Given the description of an element on the screen output the (x, y) to click on. 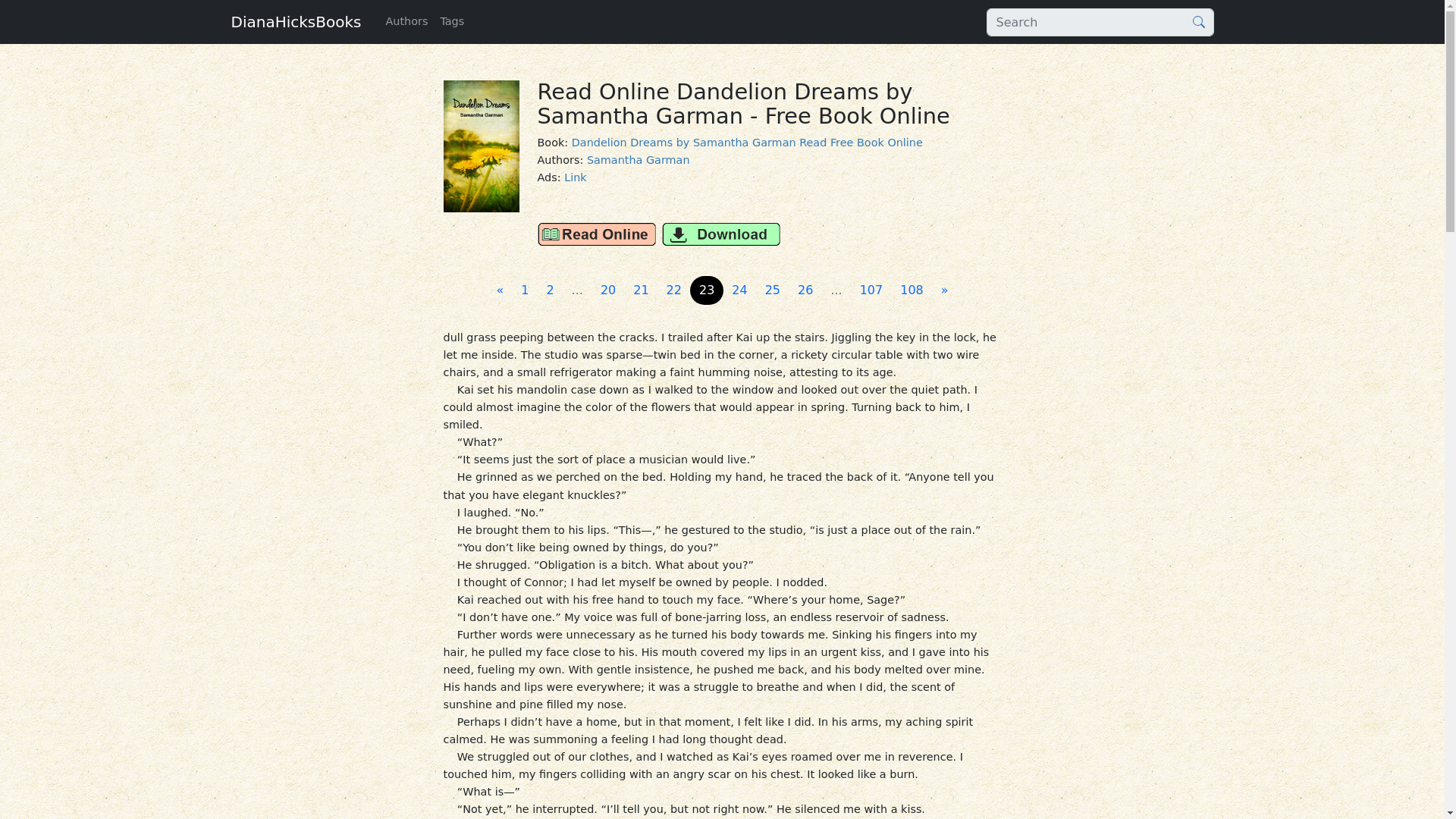
24 (738, 290)
DianaHicksBooks (295, 21)
26 (805, 290)
... (577, 290)
22 (674, 290)
2 (549, 290)
Authors (405, 21)
Tags (451, 21)
21 (641, 290)
Samantha Garman (638, 159)
